Given the description of an element on the screen output the (x, y) to click on. 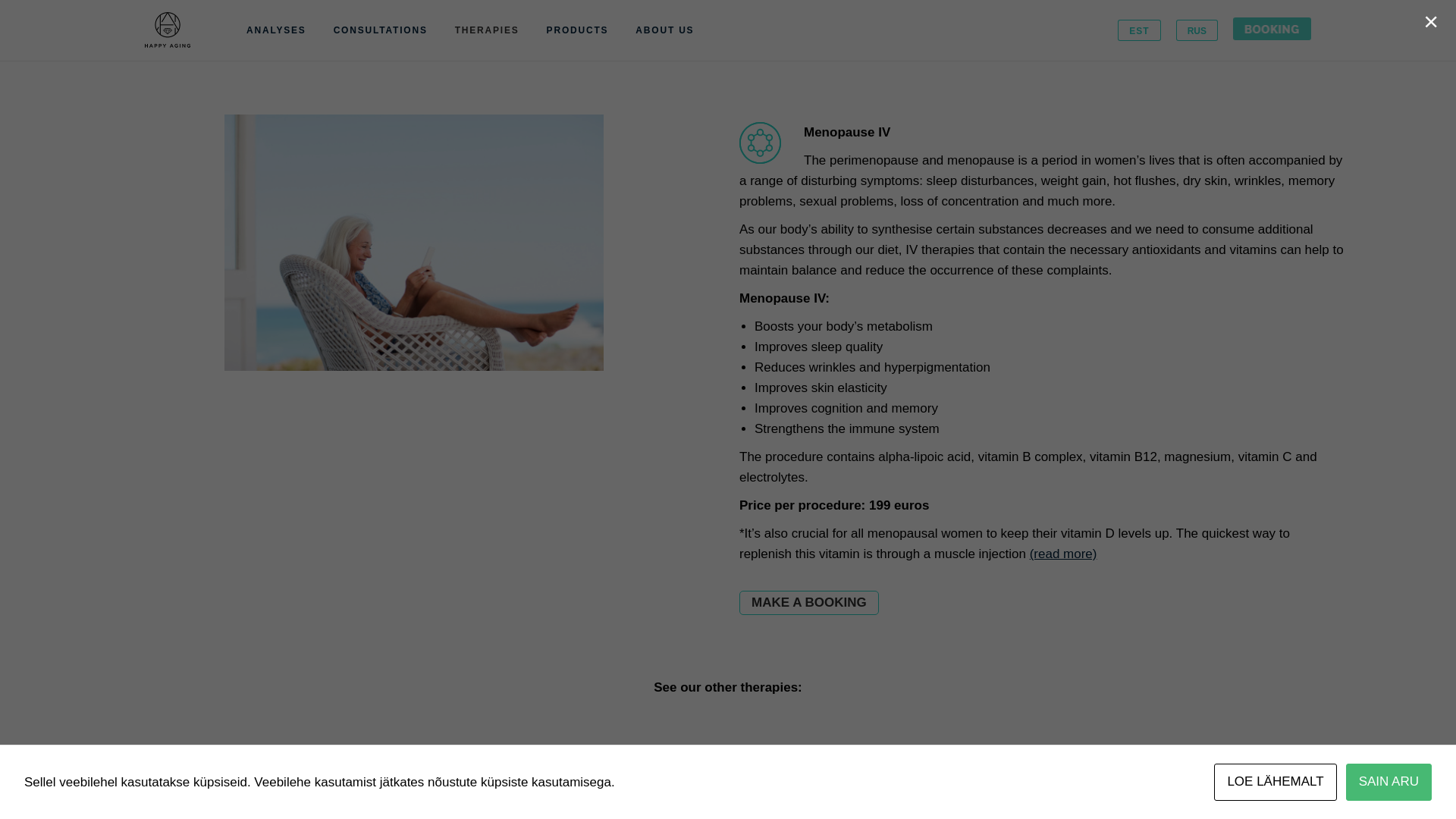
CONSULTATIONS (380, 30)
THERAPIES (486, 30)
ANALYSES (275, 30)
Broneeri aeg (809, 602)
